Given the description of an element on the screen output the (x, y) to click on. 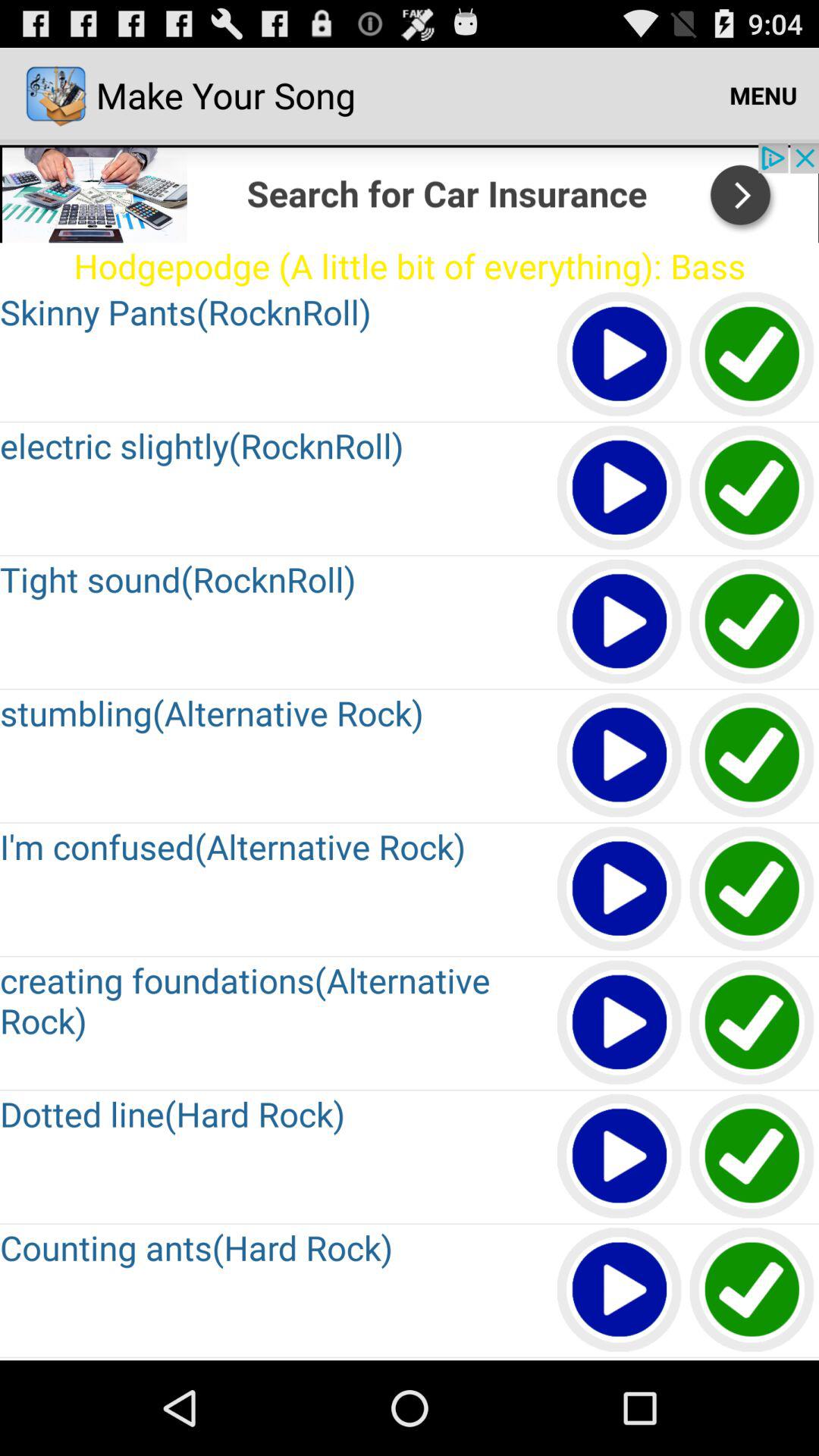
click on select button (752, 622)
